Given the description of an element on the screen output the (x, y) to click on. 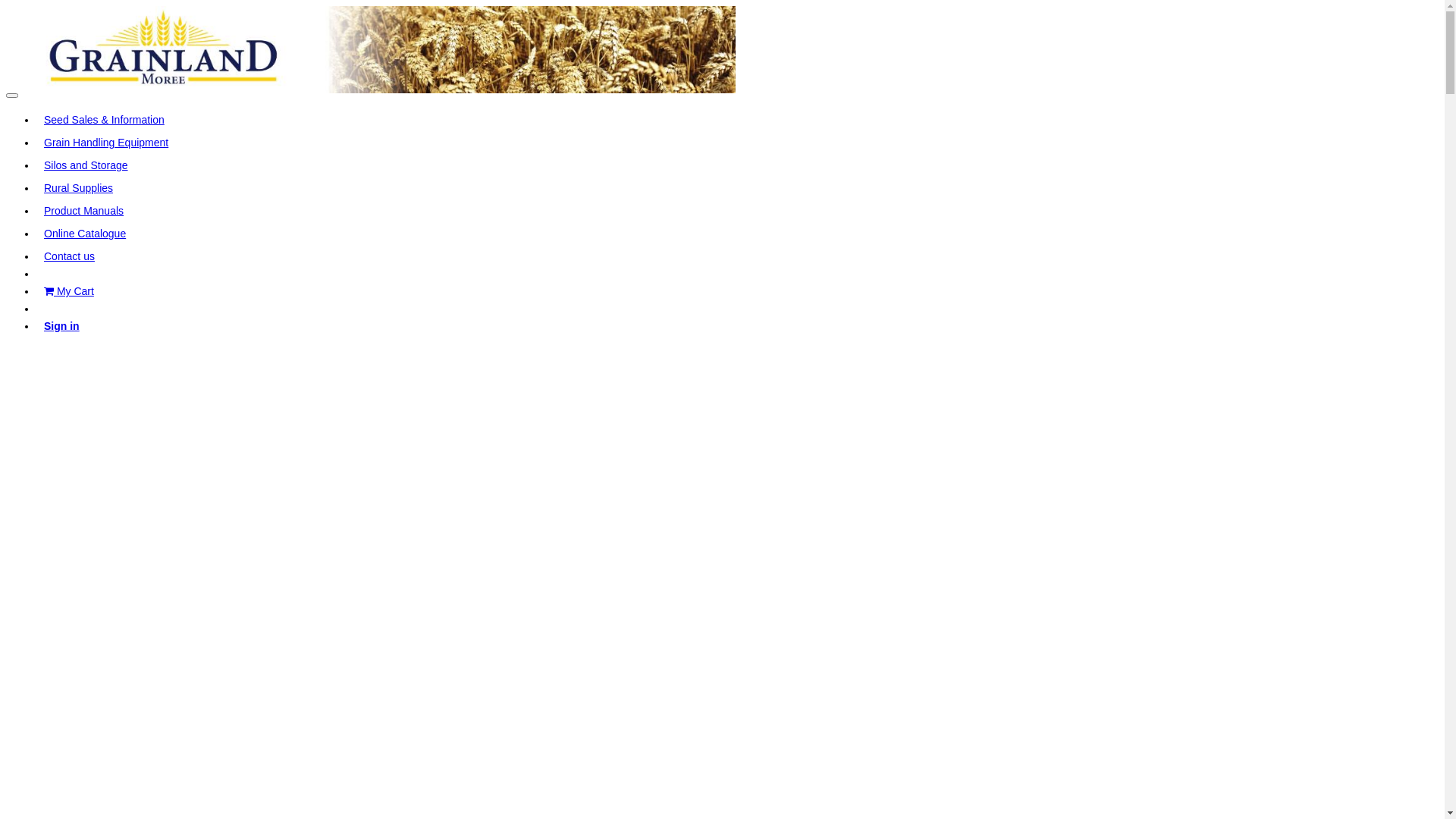
Grain Handling Equipment Element type: text (105, 142)
Rural Supplies Element type: text (78, 187)
Silos and Storage Element type: text (85, 164)
My Cart Element type: text (68, 290)
Cowra Grainland Moree Pty Ltd Element type: hover (370, 49)
Seed Sales & Information Element type: text (104, 119)
Contact us Element type: text (69, 255)
Sign in Element type: text (61, 325)
Online Catalogue Element type: text (84, 233)
Product Manuals Element type: text (83, 210)
